Given the description of an element on the screen output the (x, y) to click on. 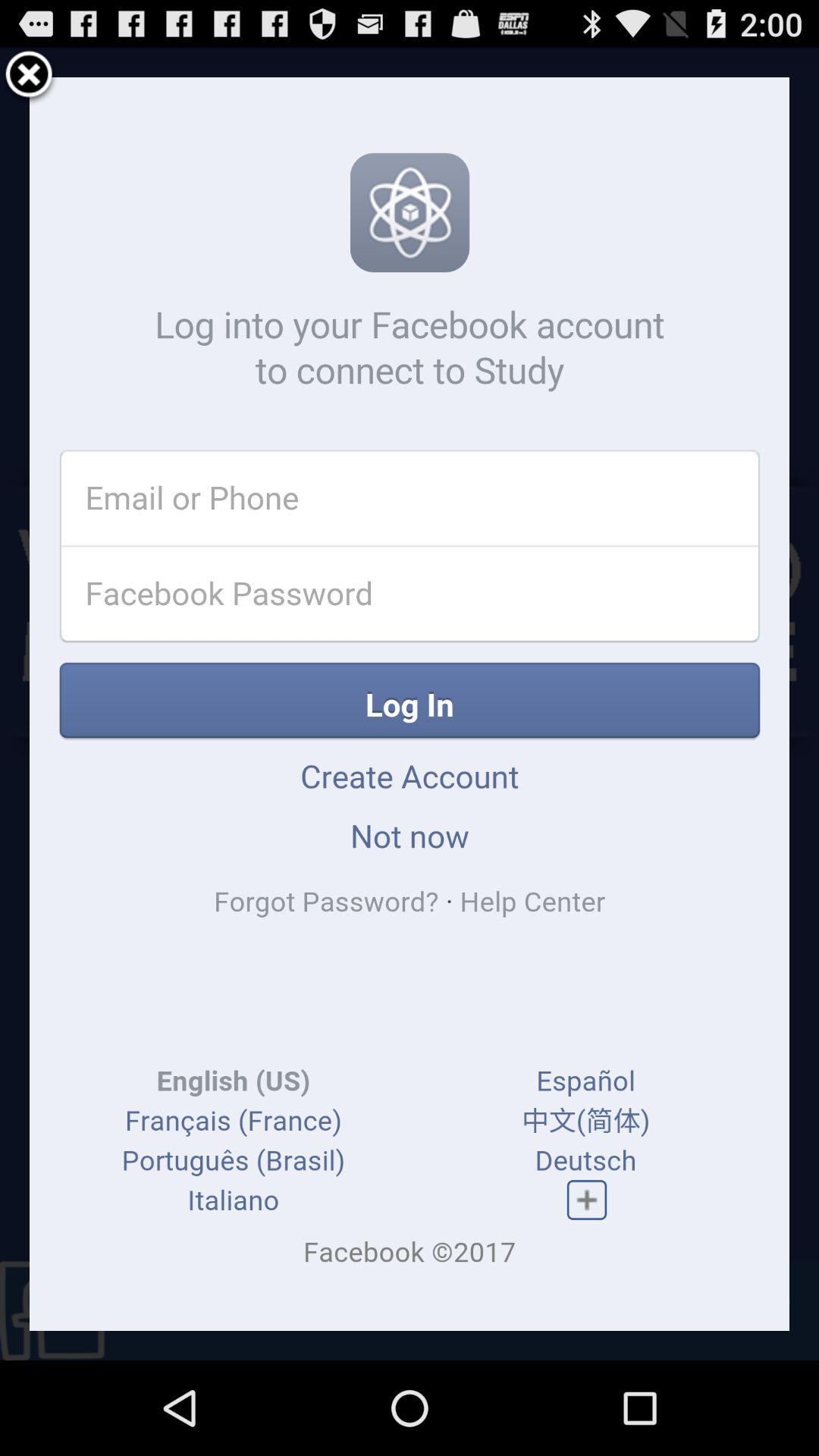
delete the option (29, 76)
